Given the description of an element on the screen output the (x, y) to click on. 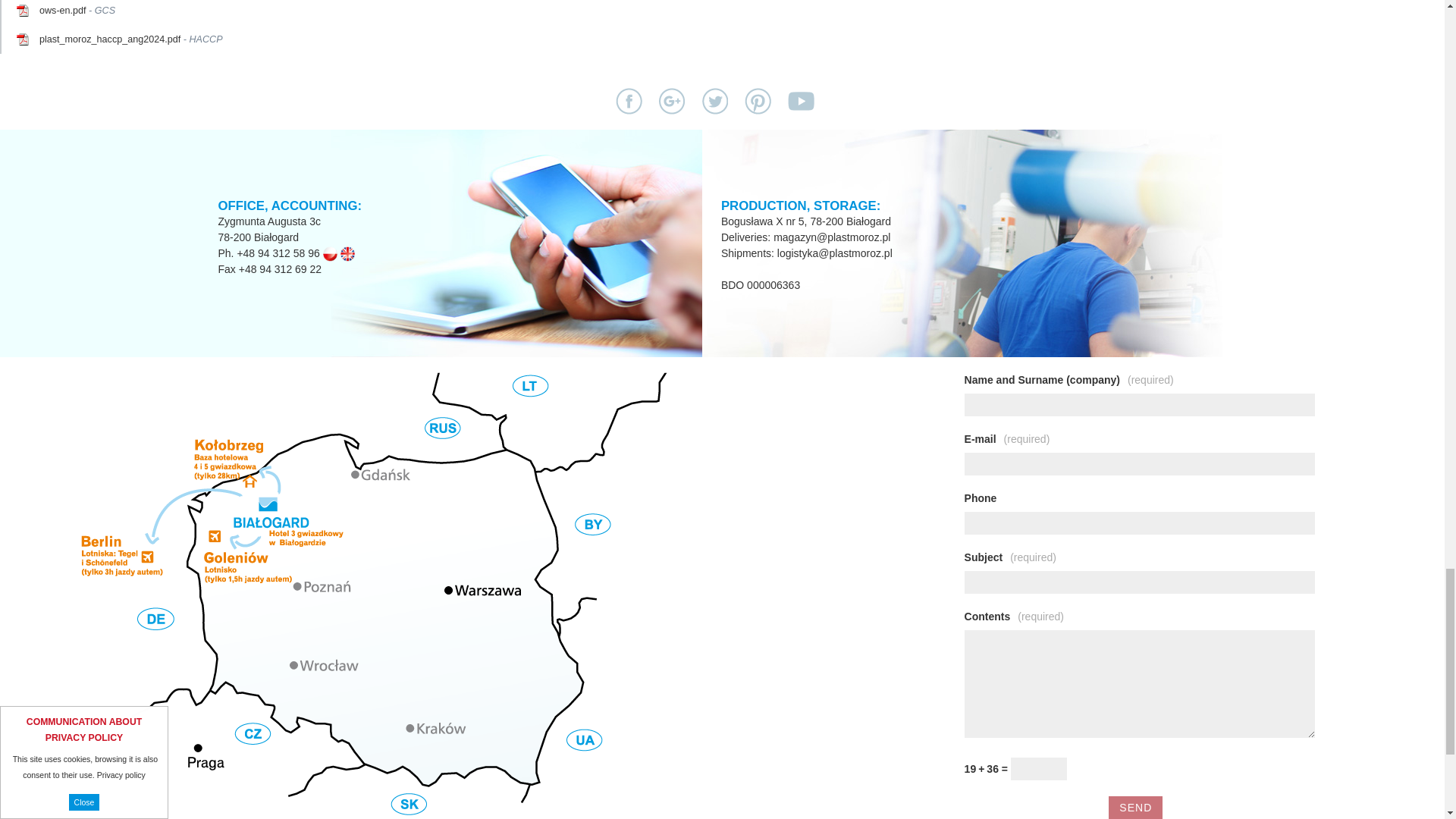
send (1134, 807)
